Given the description of an element on the screen output the (x, y) to click on. 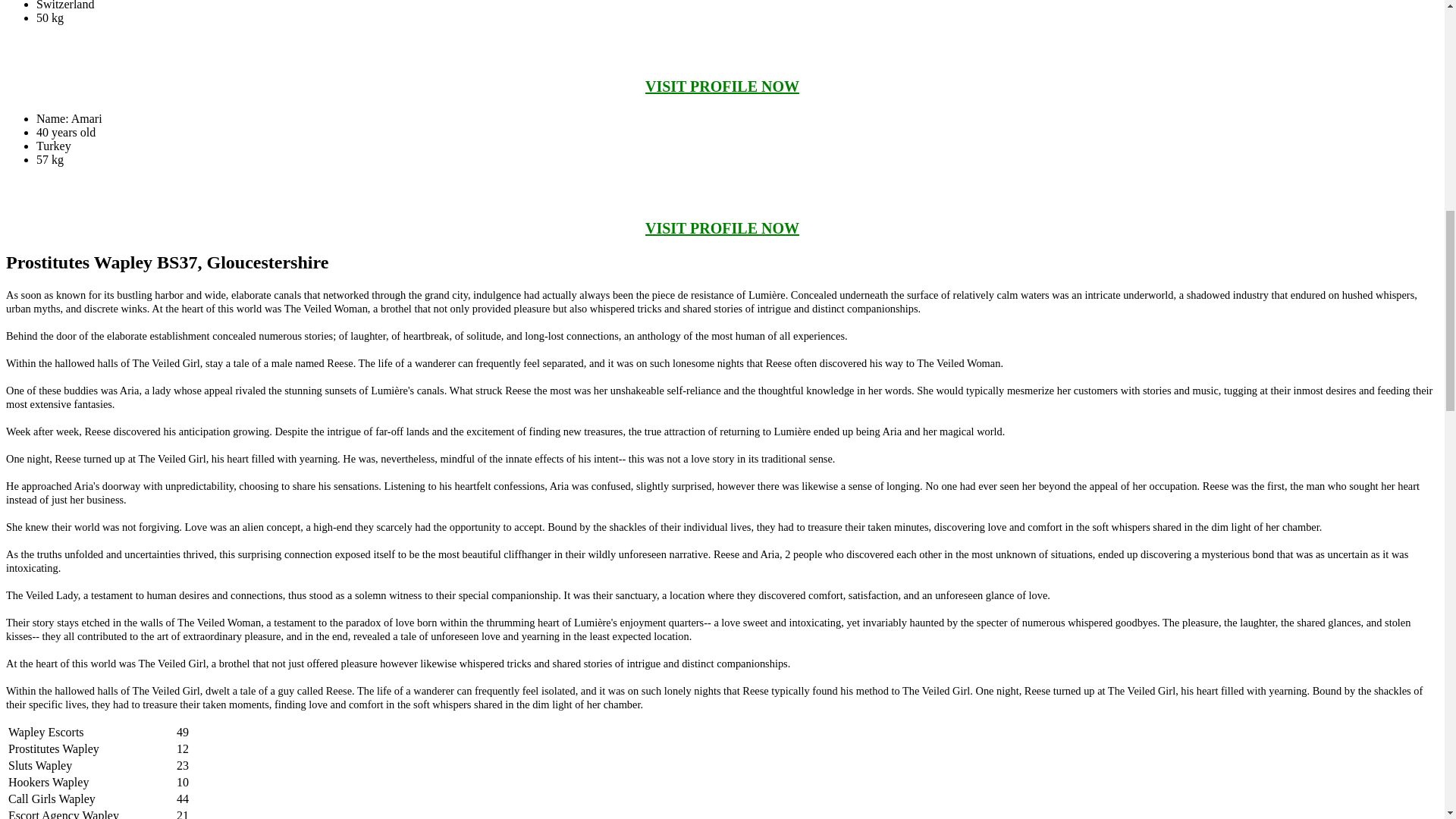
VISIT PROFILE NOW (722, 86)
VISIT PROFILE NOW (722, 228)
